Given the description of an element on the screen output the (x, y) to click on. 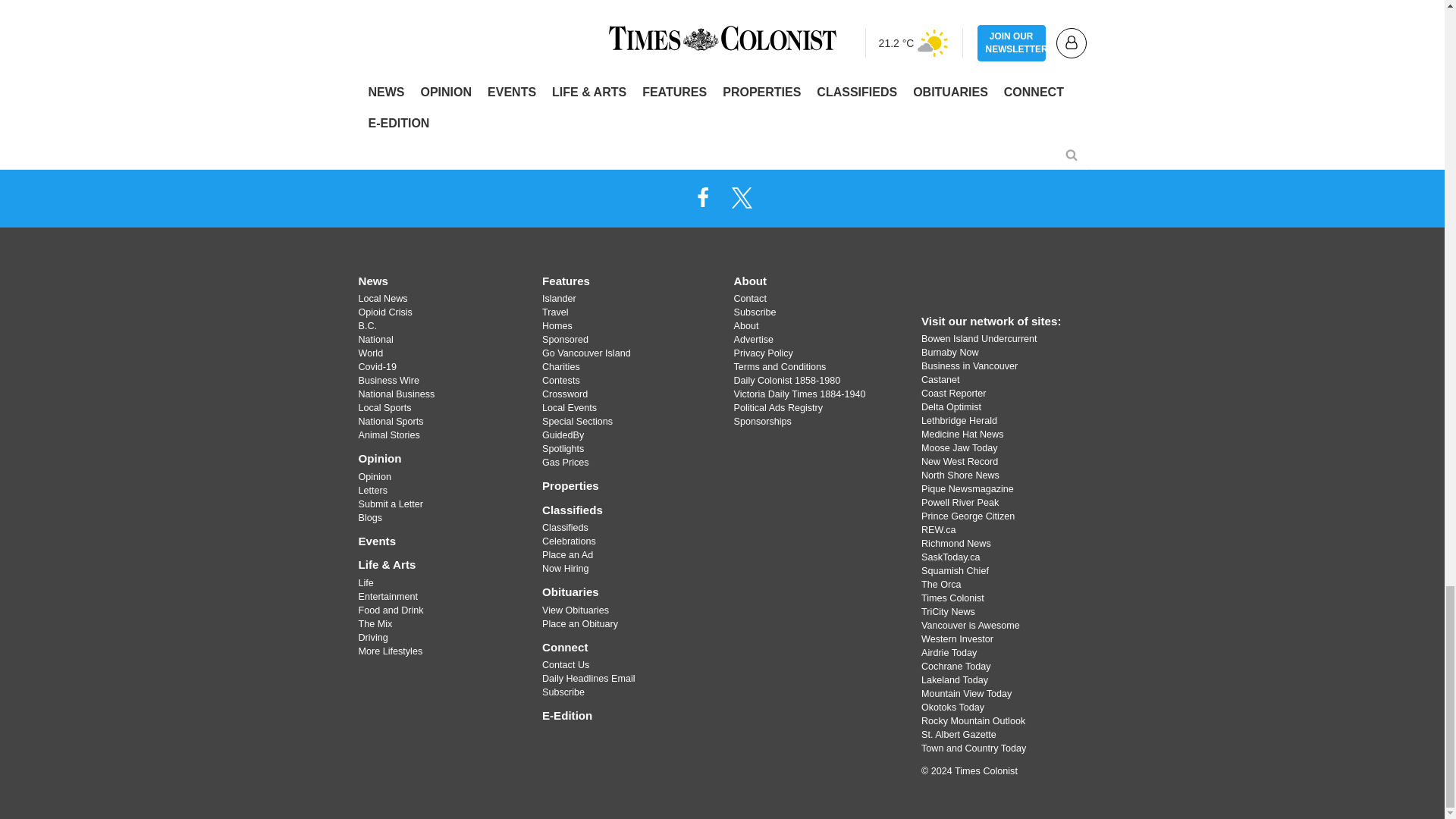
Facebook (702, 196)
X (741, 196)
